Given the description of an element on the screen output the (x, y) to click on. 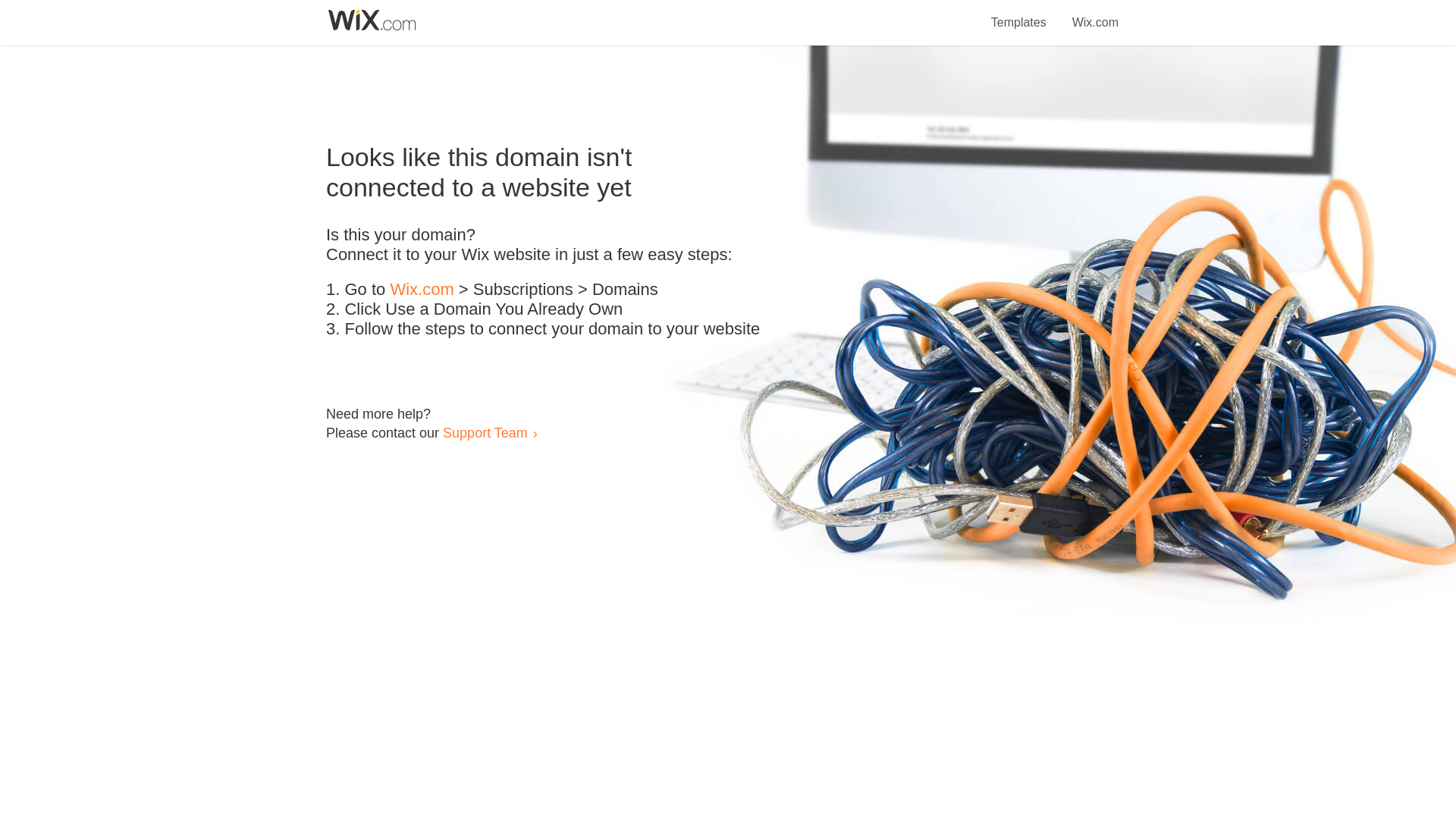
Templates (1018, 14)
Support Team (484, 432)
Wix.com (421, 289)
Wix.com (1095, 14)
